Given the description of an element on the screen output the (x, y) to click on. 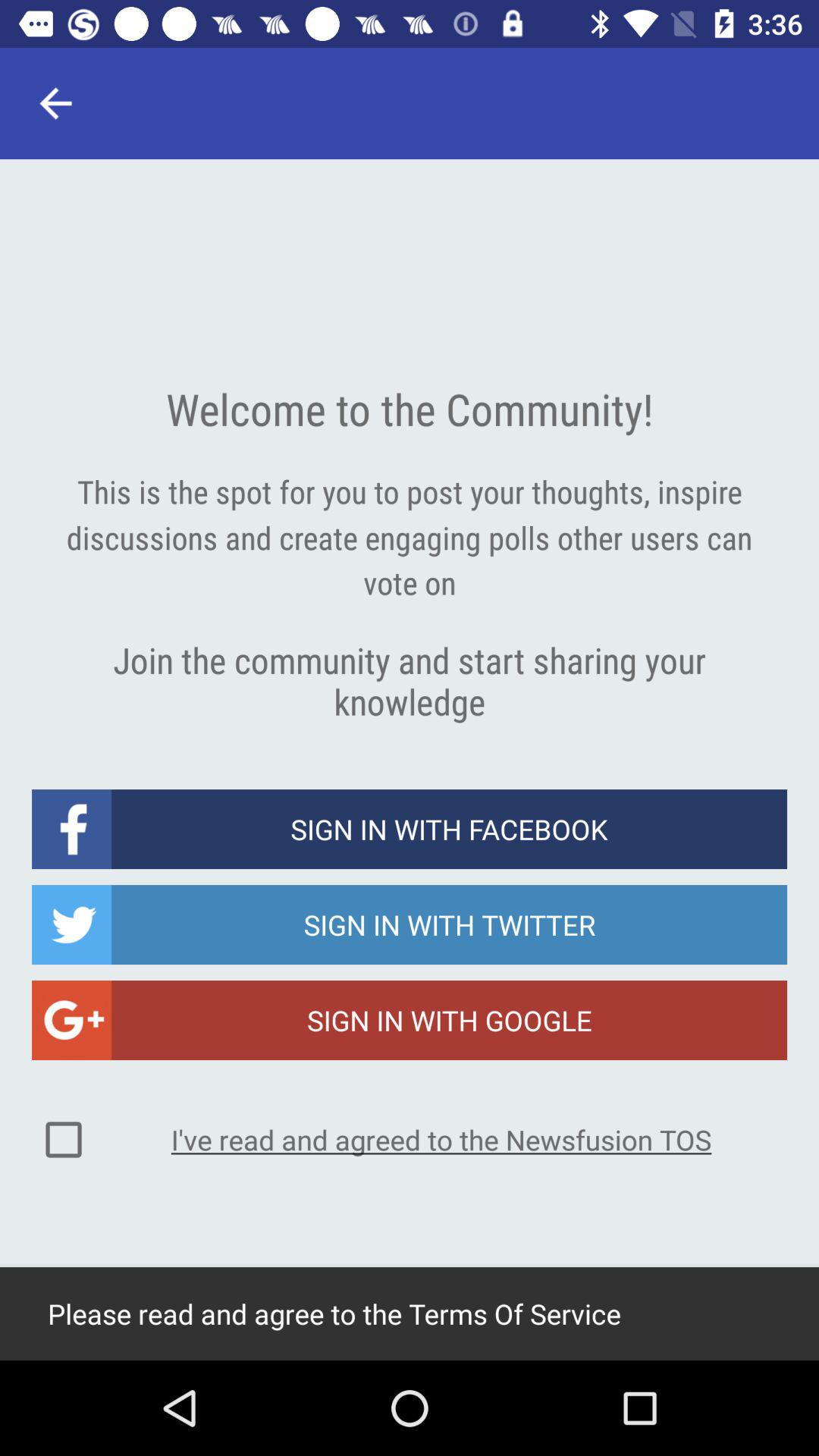
tap item at the top left corner (55, 103)
